Given the description of an element on the screen output the (x, y) to click on. 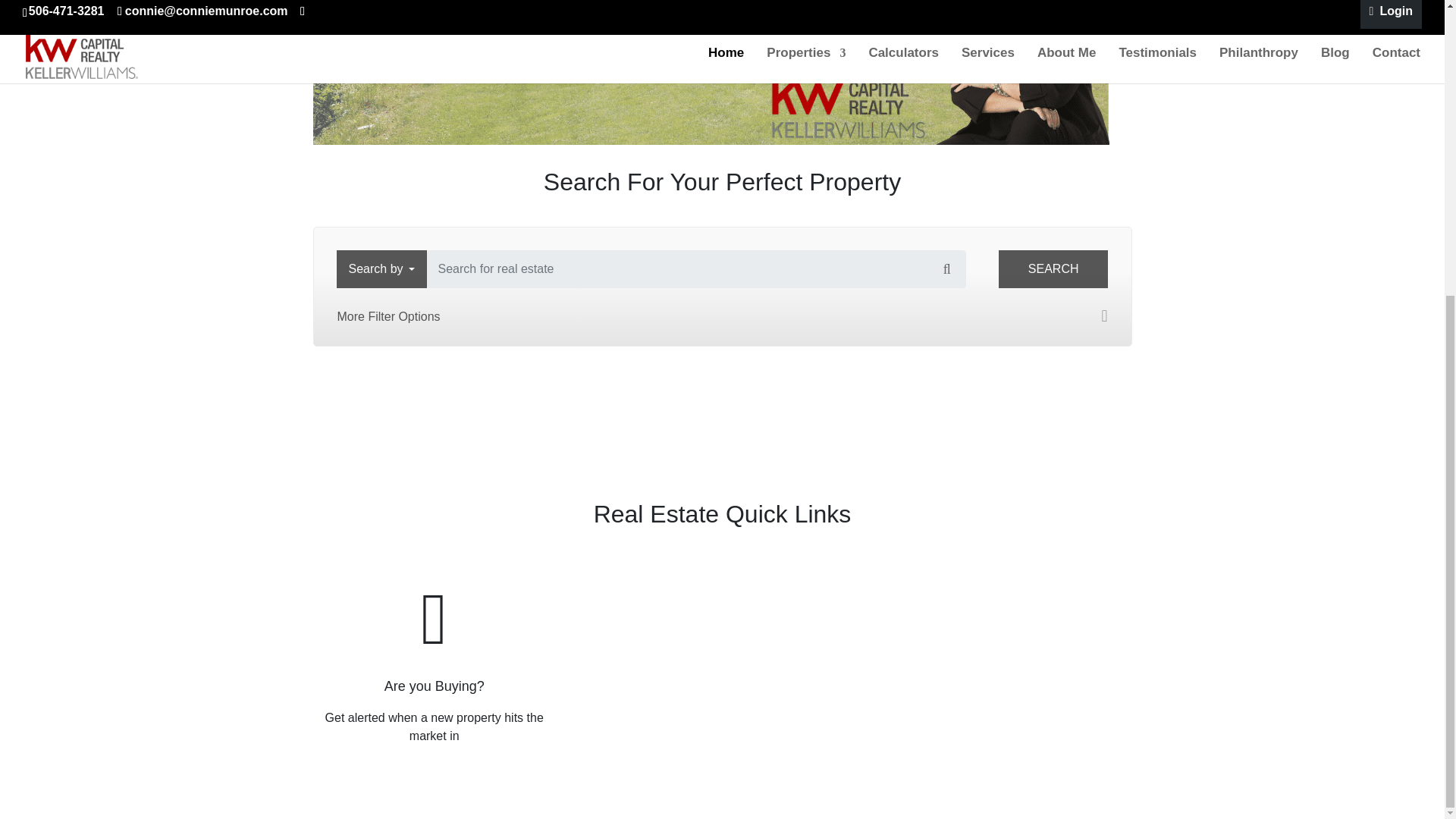
SEARCH (1053, 269)
More Filter Options (722, 316)
Search by (381, 269)
